Given the description of an element on the screen output the (x, y) to click on. 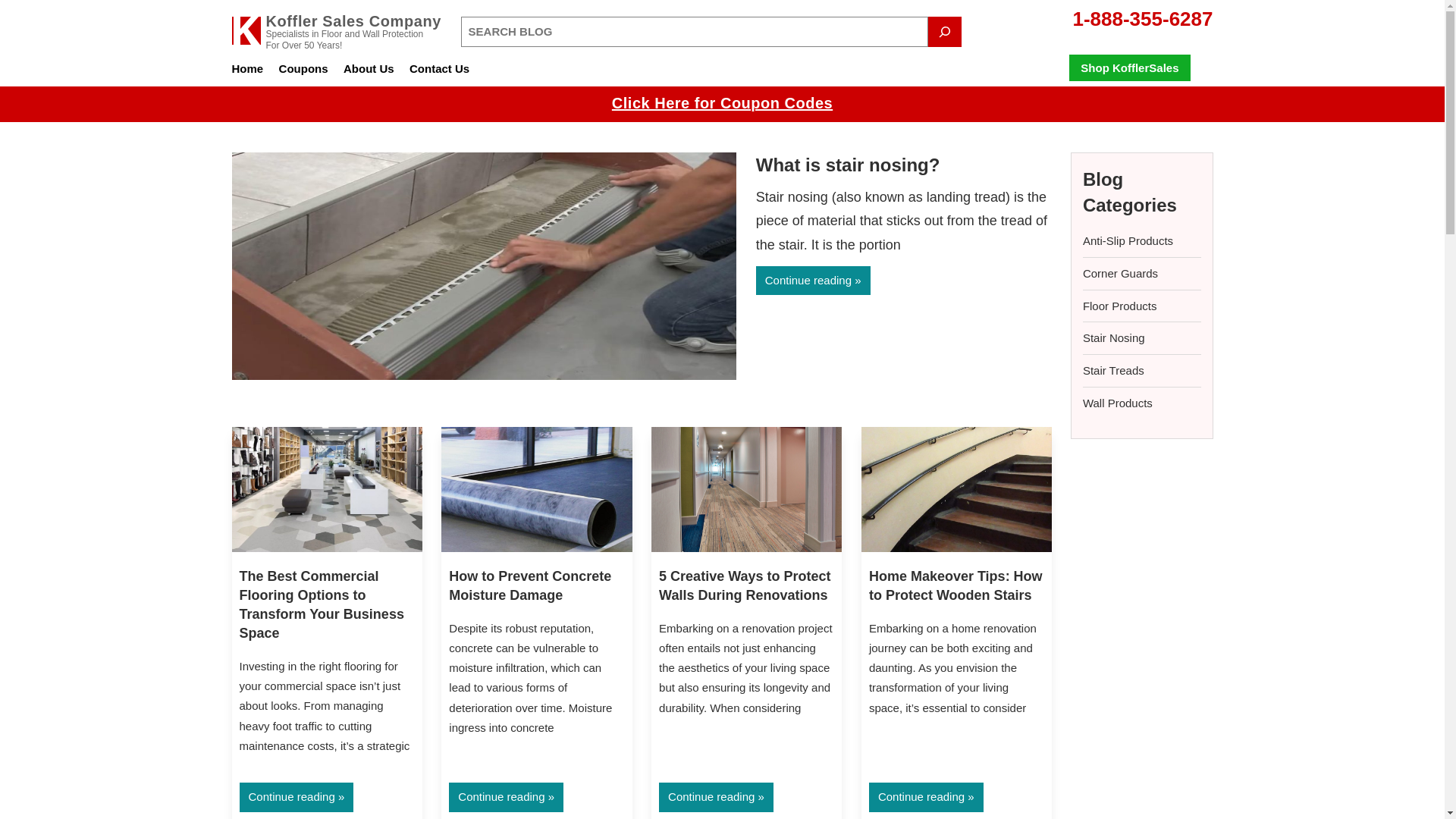
5 Creative Ways to Protect Walls During Renovations 12 (745, 489)
Continue reading (296, 796)
How to Prevent Concrete Moisture Damage (529, 585)
Coupons (304, 69)
About Us (368, 69)
Shop KofflerSales (1128, 67)
What is stair nosing? 1 (483, 266)
Contact Us (438, 69)
Home (247, 69)
How to Prevent Concrete Moisture Damage 11 (536, 489)
Home Makeover Tips: How to Protect Wooden Stairs (955, 585)
5 Creative Ways to Protect Walls During Renovations (744, 585)
Continue reading (812, 280)
